Given the description of an element on the screen output the (x, y) to click on. 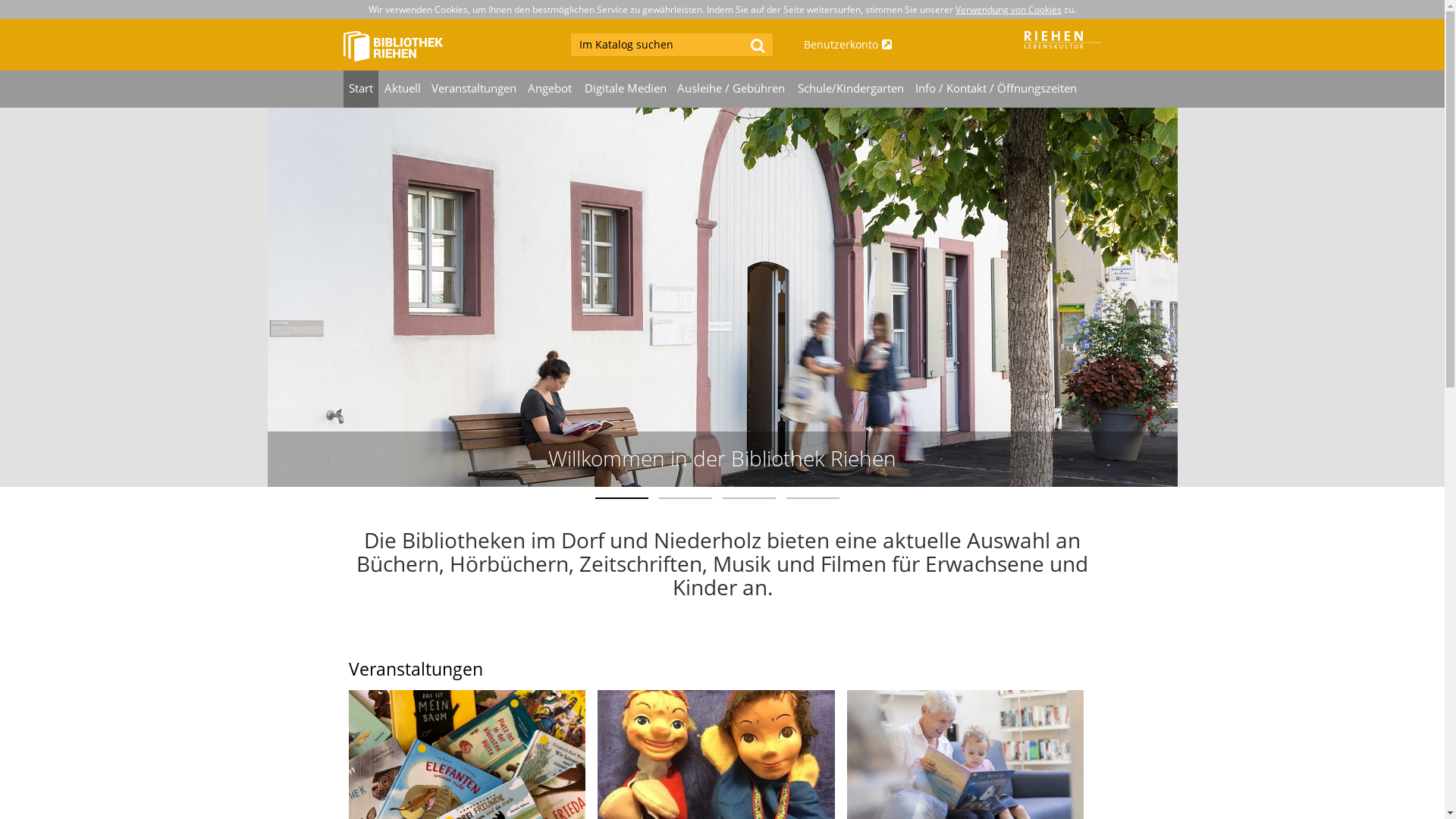
Start Element type: text (360, 88)
2 Element type: text (684, 497)
Veranstaltungen Element type: text (474, 88)
Verwendung von Cookies Element type: text (1008, 9)
Benutzerkonto Element type: text (881, 44)
Angebot Element type: text (550, 88)
Aktuell Element type: text (402, 88)
4 Element type: text (811, 497)
1 Element type: text (620, 497)
Schule/Kindergarten Element type: text (851, 88)
Digitale Medien Element type: text (624, 88)
3 Element type: text (748, 497)
Willkommen in der Bibliothek Riehen Element type: text (722, 458)
